Given the description of an element on the screen output the (x, y) to click on. 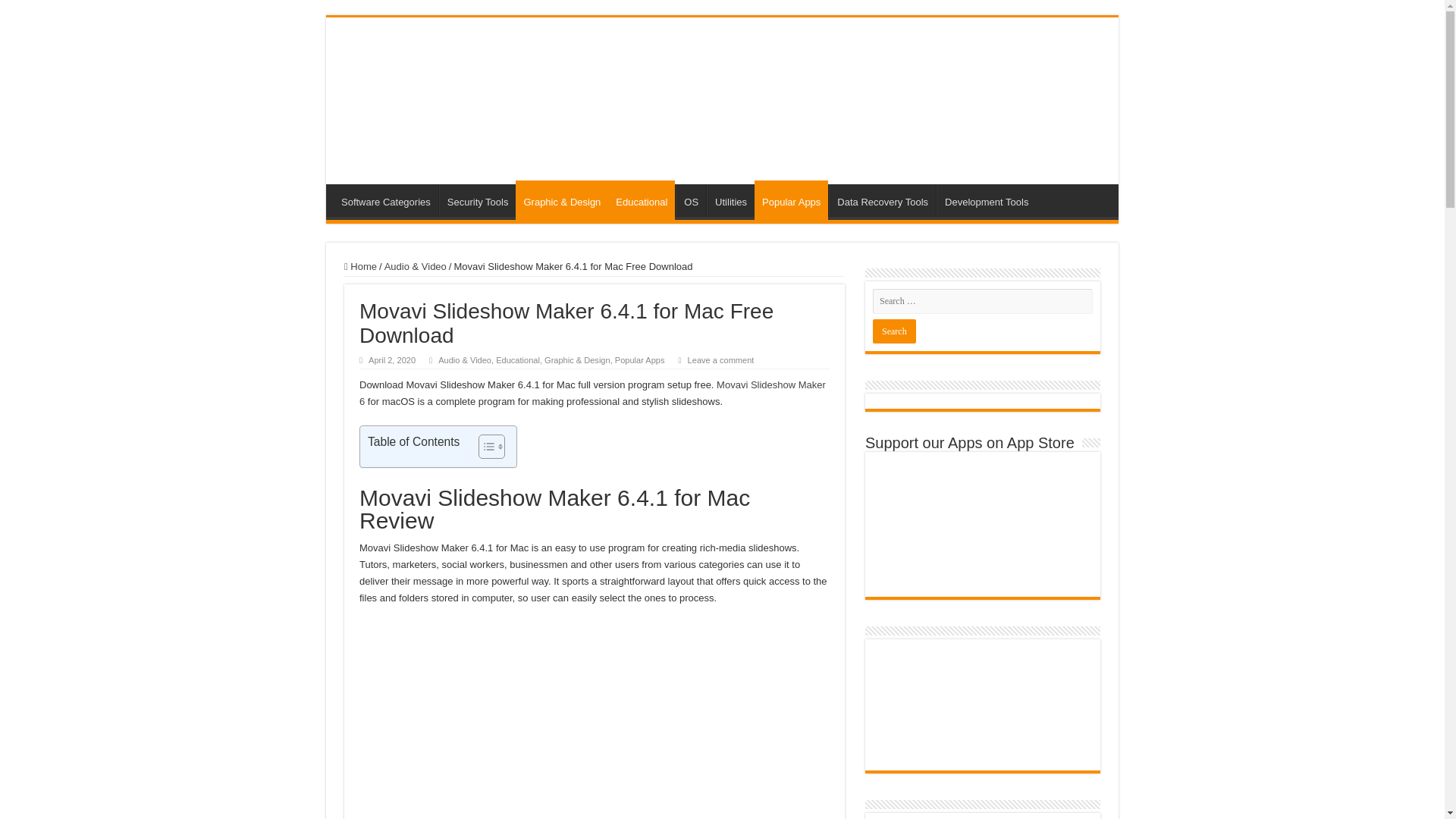
OS (690, 200)
Development Tools (985, 200)
Data Recovery Tools (882, 200)
Educational (641, 200)
Leave a comment (720, 359)
Popular Apps (639, 359)
Movavi Slideshow Maker 6 (592, 393)
Software Categories (385, 200)
Search (893, 331)
Search (893, 331)
